Given the description of an element on the screen output the (x, y) to click on. 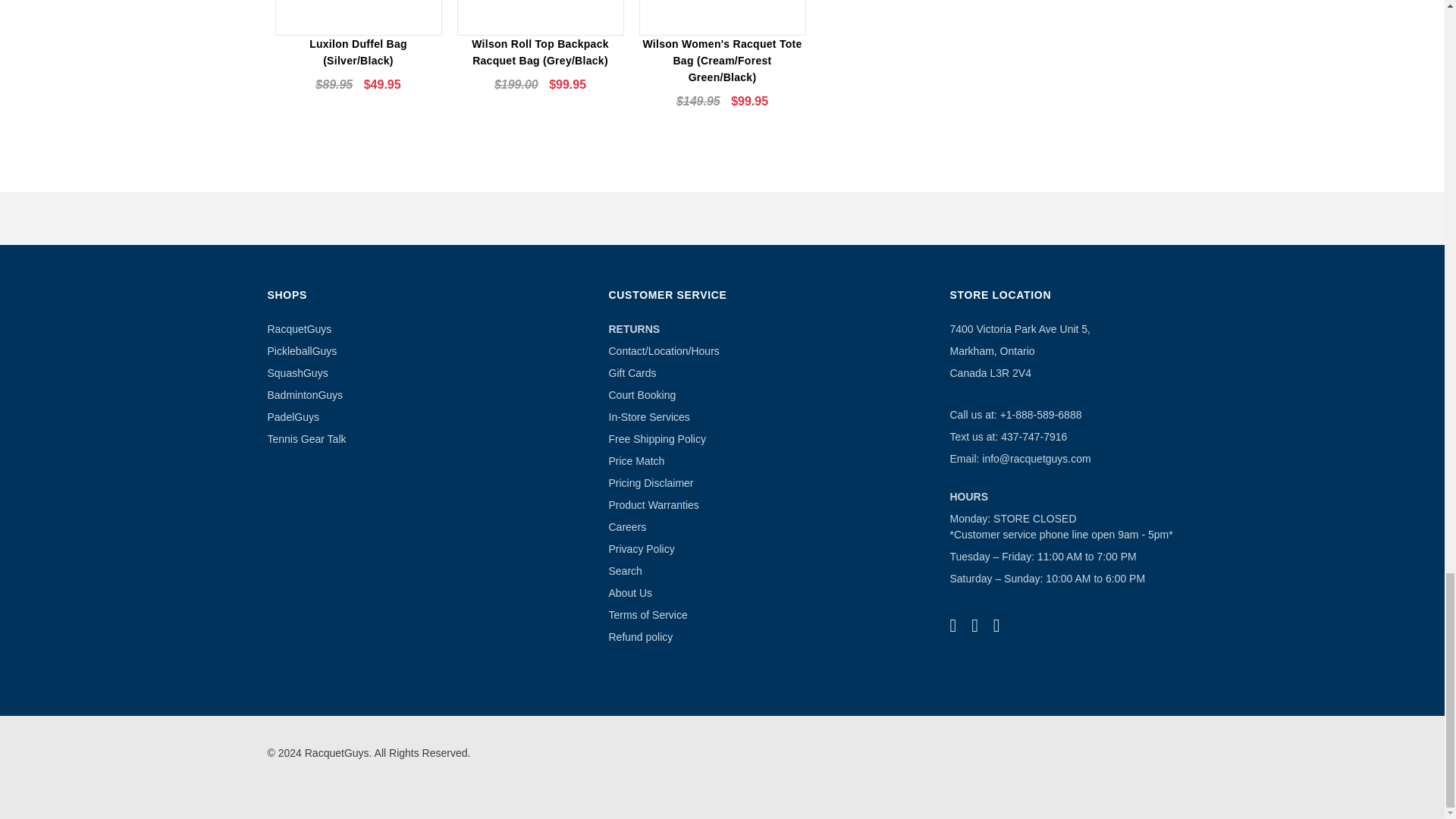
PickleballGuys (301, 350)
RacquetGuys (298, 328)
SquashGuys (296, 372)
BadmintonGuys (304, 395)
